Given the description of an element on the screen output the (x, y) to click on. 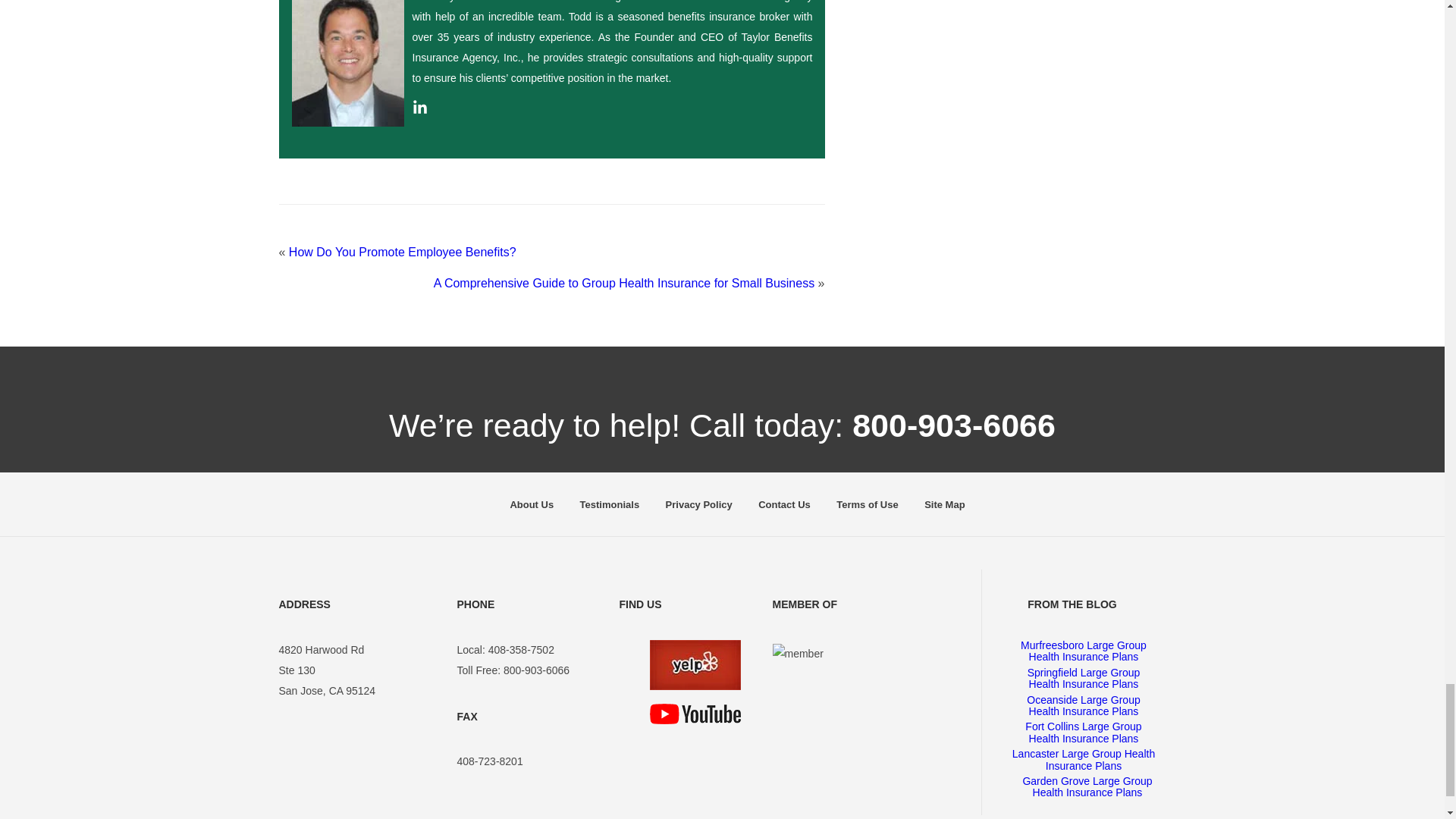
Linkedin (420, 110)
How Do You Promote Employee Benefits? (402, 251)
